Given the description of an element on the screen output the (x, y) to click on. 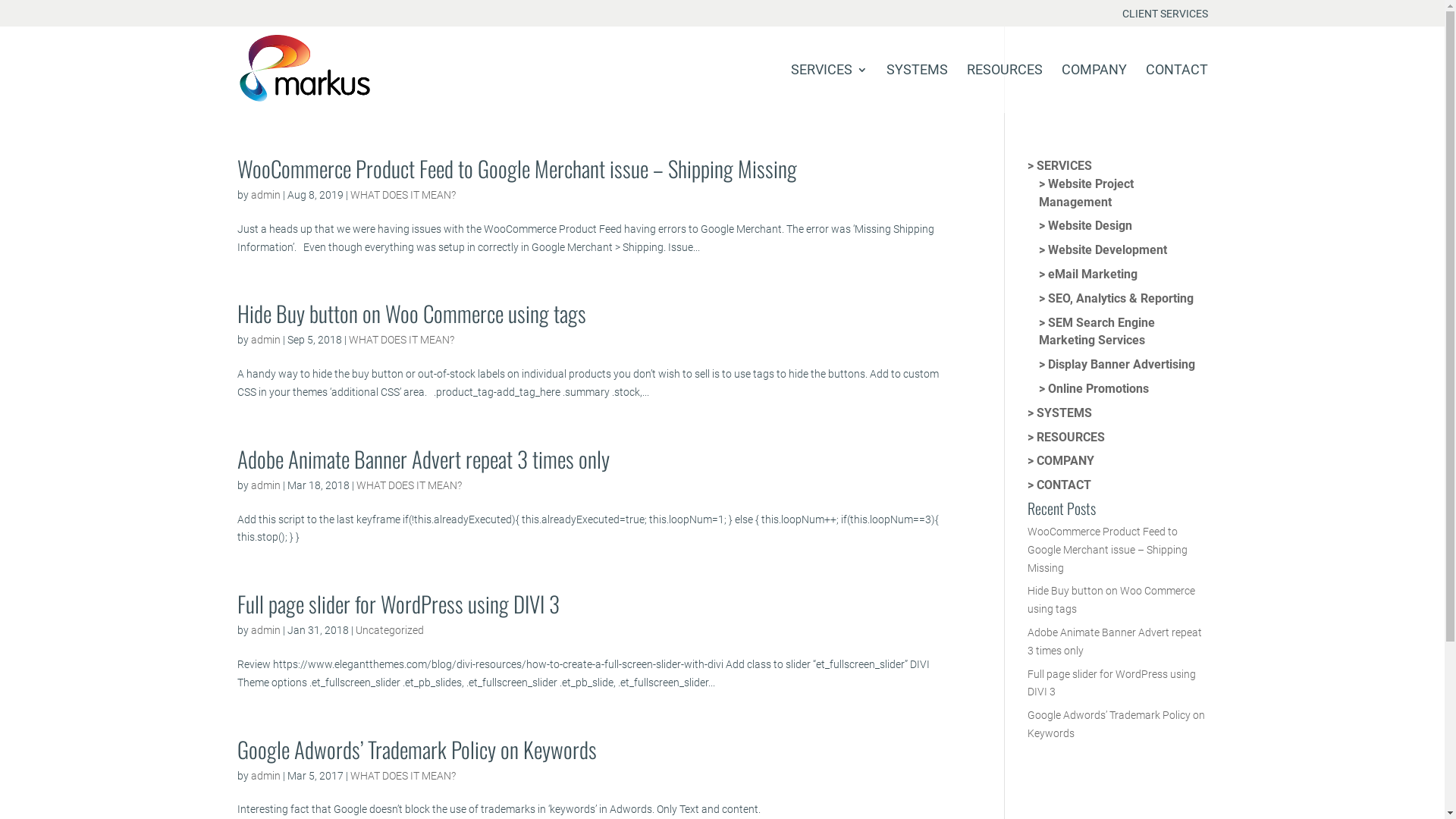
Hide Buy button on Woo Commerce using tags Element type: text (1111, 599)
Uncategorized Element type: text (388, 630)
CONTACT Element type: text (1059, 484)
Display Banner Advertising Element type: text (1116, 364)
SEO, Analytics & Reporting Element type: text (1115, 298)
admin Element type: text (264, 485)
WHAT DOES IT MEAN? Element type: text (402, 194)
Hide Buy button on Woo Commerce using tags Element type: text (410, 312)
CONTACT Element type: text (1176, 88)
SERVICES Element type: text (1059, 165)
WHAT DOES IT MEAN? Element type: text (402, 775)
Full page slider for WordPress using DIVI 3 Element type: text (397, 602)
SYSTEMS Element type: text (1059, 412)
Adobe Animate Banner Advert repeat 3 times only Element type: text (1114, 641)
CLIENT SERVICES Element type: text (1165, 16)
SEM Search Engine Marketing Services Element type: text (1096, 331)
admin Element type: text (264, 775)
COMPANY Element type: text (1093, 88)
WHAT DOES IT MEAN? Element type: text (408, 485)
Online Promotions Element type: text (1093, 388)
COMPANY Element type: text (1060, 460)
Adobe Animate Banner Advert repeat 3 times only Element type: text (422, 458)
Website Design Element type: text (1085, 225)
admin Element type: text (264, 339)
RESOURCES Element type: text (1065, 436)
Website Development Element type: text (1102, 249)
SYSTEMS Element type: text (916, 88)
RESOURCES Element type: text (1003, 88)
WHAT DOES IT MEAN? Element type: text (401, 339)
eMail Marketing Element type: text (1087, 273)
admin Element type: text (264, 194)
admin Element type: text (264, 630)
Full page slider for WordPress using DIVI 3 Element type: text (1111, 683)
Website Project Management Element type: text (1085, 192)
SERVICES Element type: text (828, 88)
